Given the description of an element on the screen output the (x, y) to click on. 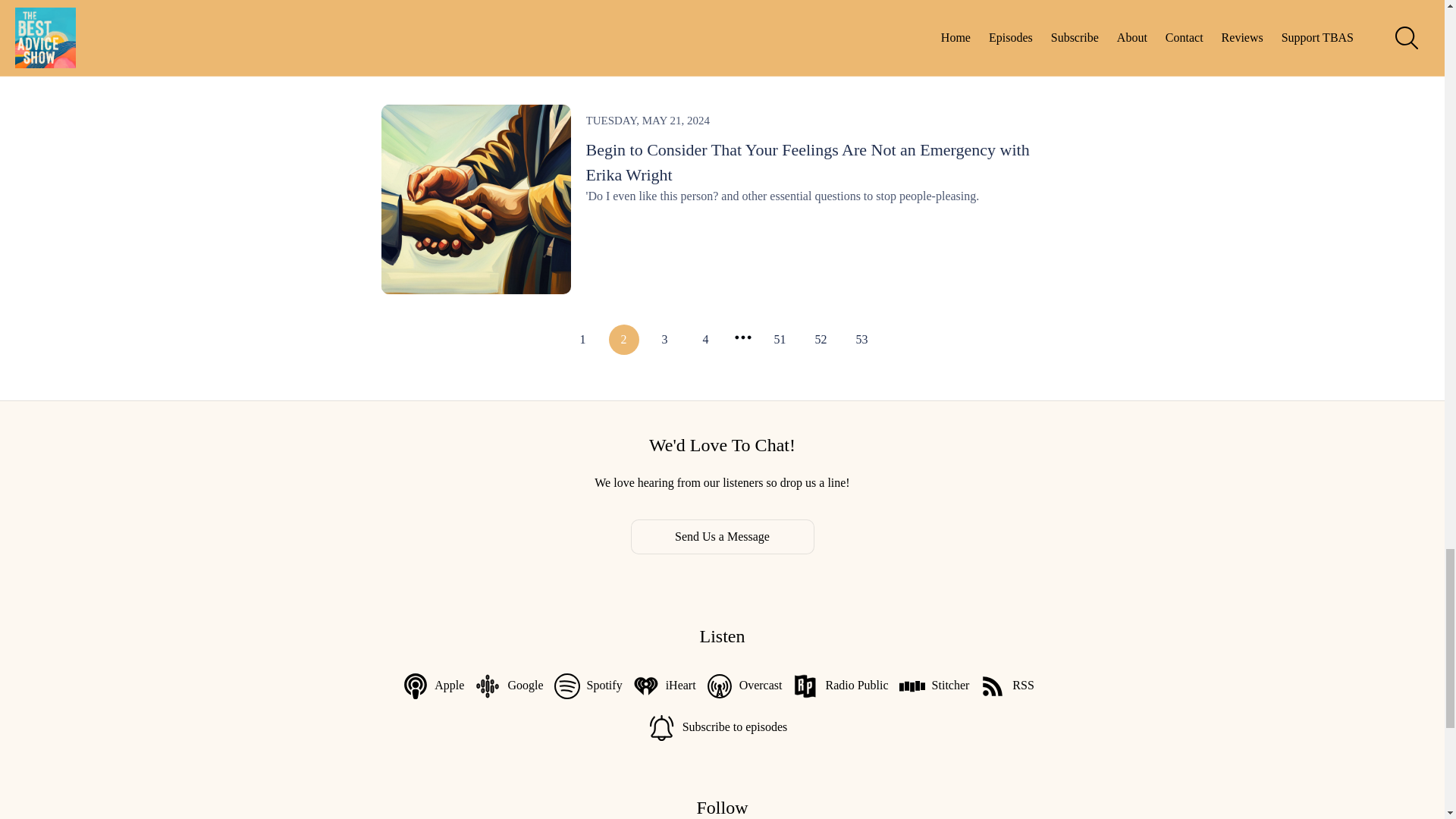
1 (581, 339)
52 (820, 339)
4 (705, 339)
2 (623, 339)
51 (779, 339)
3 (664, 339)
53 (860, 339)
